Given the description of an element on the screen output the (x, y) to click on. 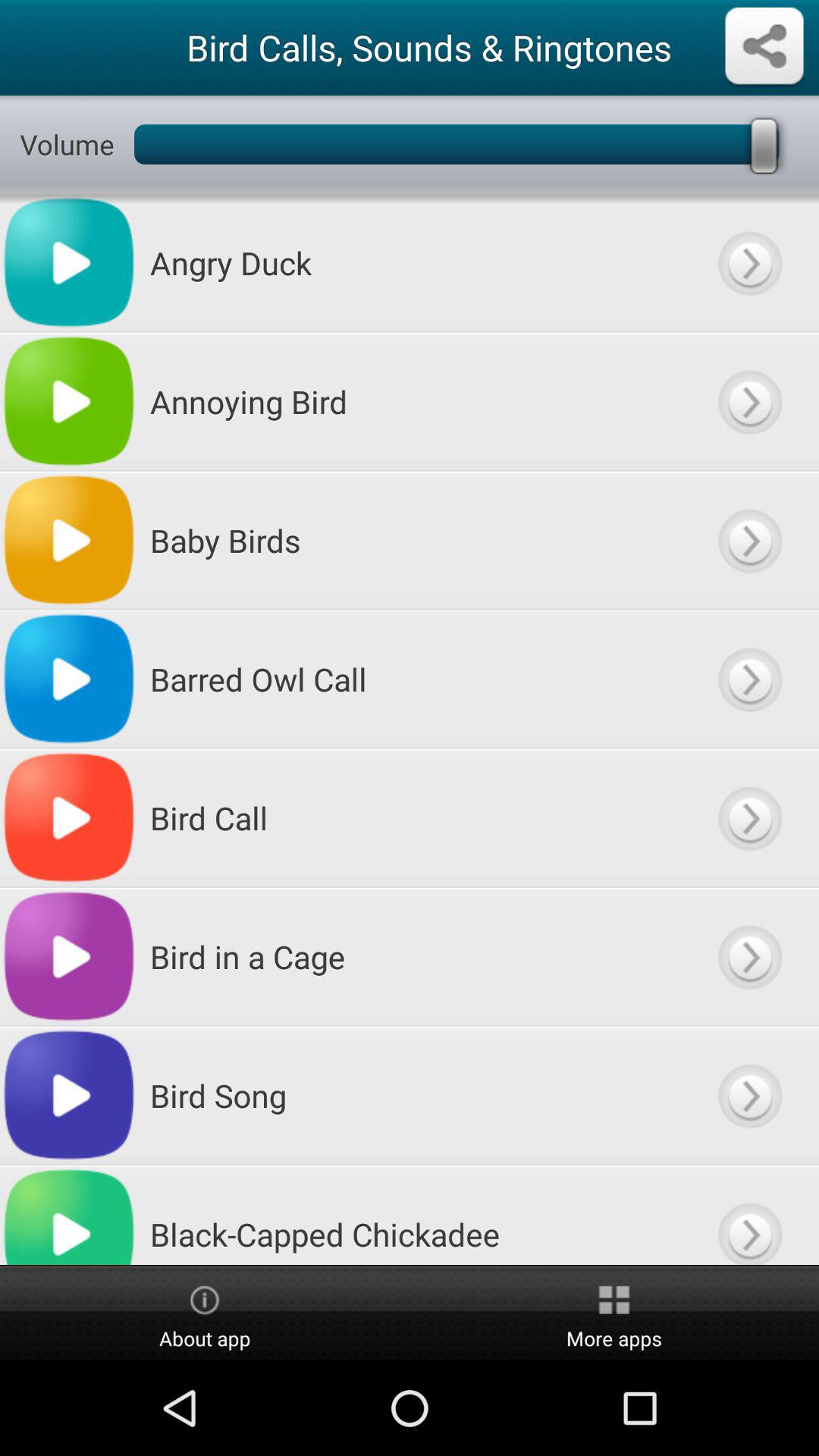
play bird call (749, 818)
